Given the description of an element on the screen output the (x, y) to click on. 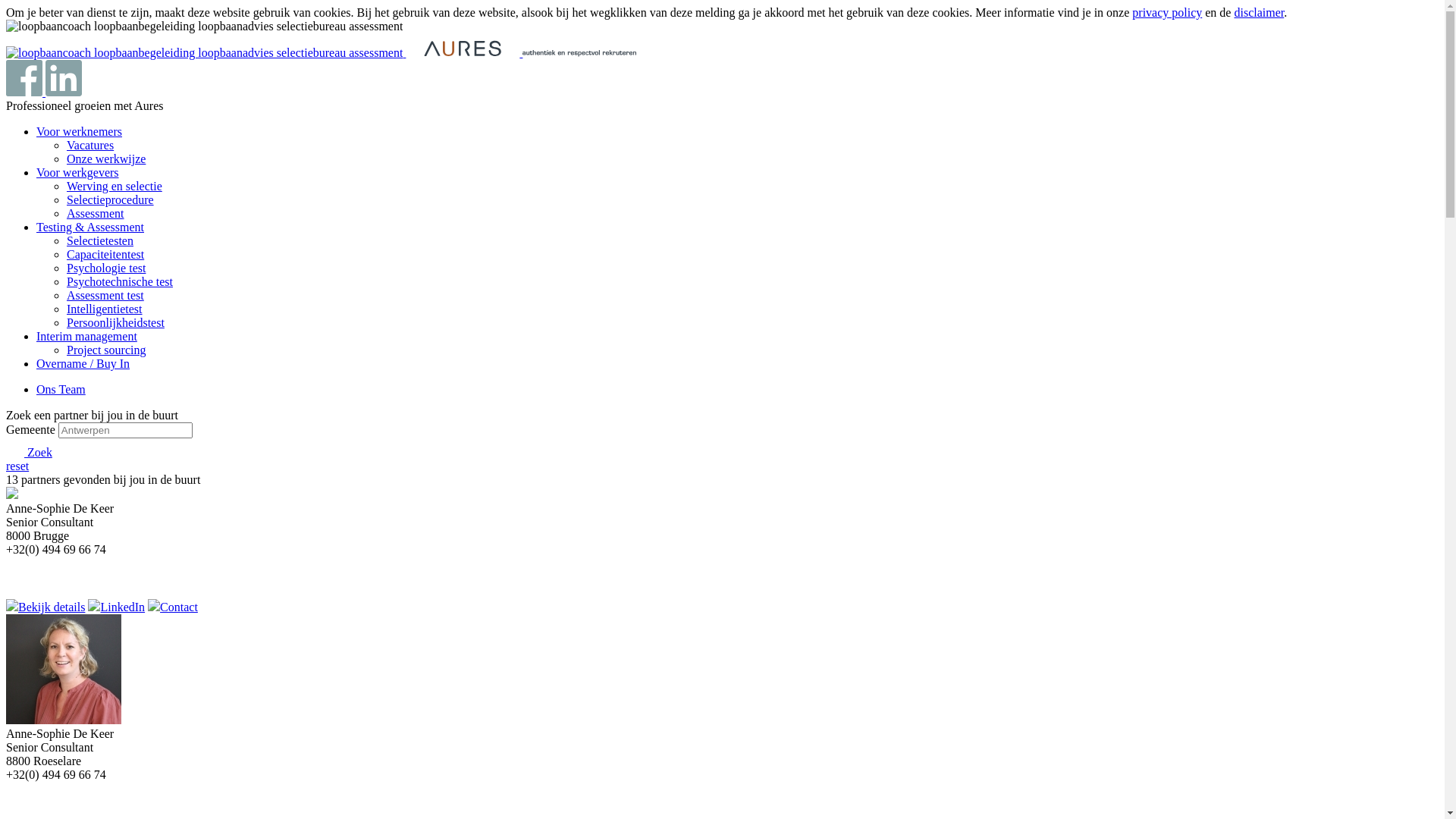
Overname / Buy In Element type: text (82, 363)
Persoonlijkheidstest Element type: text (115, 322)
Testing & Assessment Element type: text (90, 226)
reset Element type: text (17, 465)
Intelligentietest Element type: text (104, 308)
Bekijk details Element type: text (45, 606)
Project sourcing Element type: text (105, 349)
Vacatures Element type: text (89, 144)
Selectieprocedure Element type: text (109, 199)
Capaciteitentest Element type: text (105, 253)
Voor werknemers Element type: text (79, 131)
Psychologie test Element type: text (105, 267)
Contact Element type: text (172, 606)
Assessment Element type: text (95, 213)
Ons Team Element type: text (60, 388)
Werving en selectie Element type: text (114, 185)
Voor werkgevers Element type: text (77, 172)
LinkedIn Element type: text (115, 606)
Psychotechnische test Element type: text (119, 281)
Interim management Element type: text (86, 335)
Zoek Element type: text (29, 451)
privacy policy Element type: text (1166, 12)
disclaimer Element type: text (1258, 12)
Selectietesten Element type: text (99, 240)
Assessment test Element type: text (105, 294)
Onze werkwijze Element type: text (105, 158)
